Given the description of an element on the screen output the (x, y) to click on. 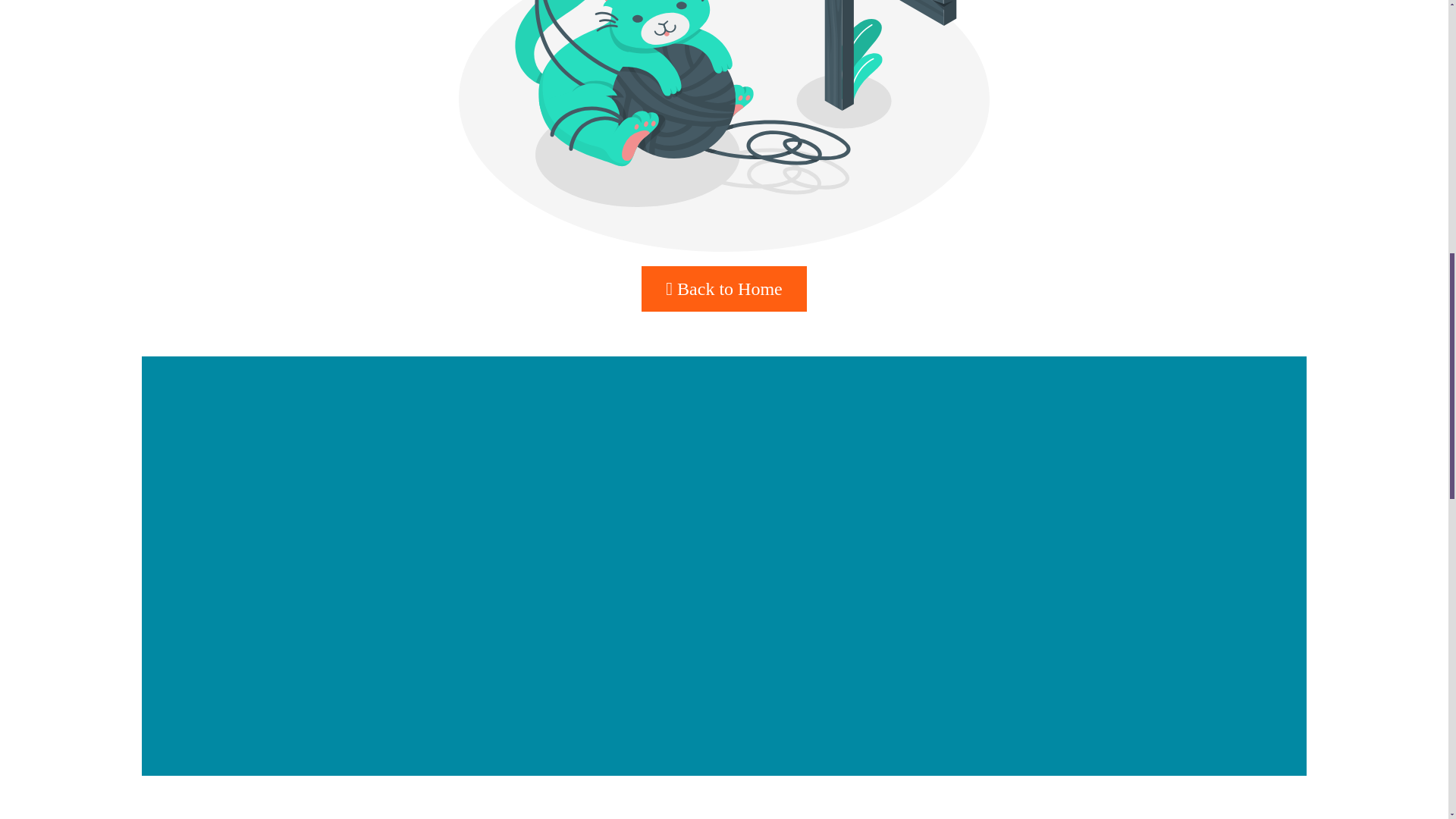
Back to Home (724, 289)
